Given the description of an element on the screen output the (x, y) to click on. 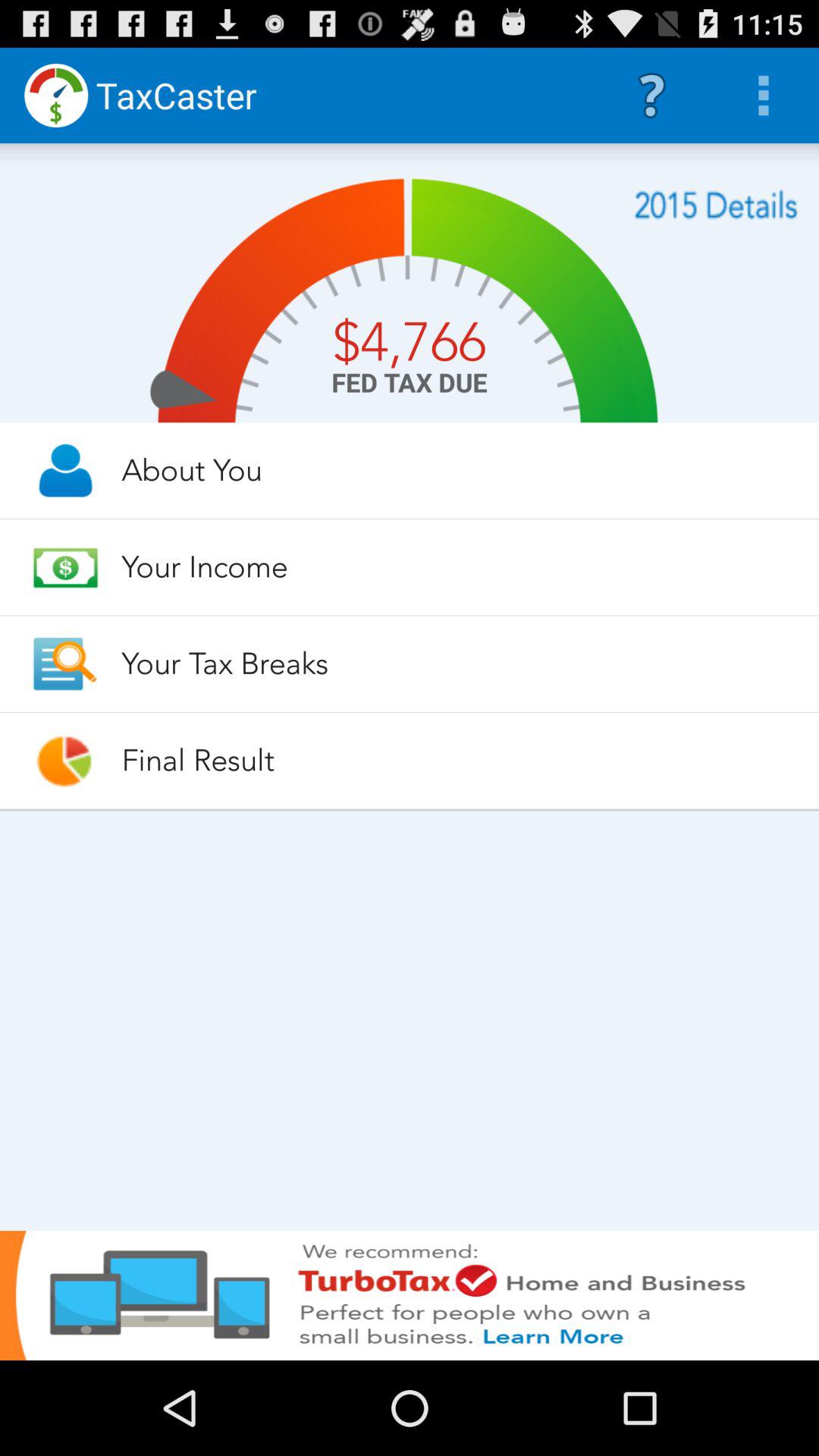
open bottom banner advertisement (409, 1295)
